Given the description of an element on the screen output the (x, y) to click on. 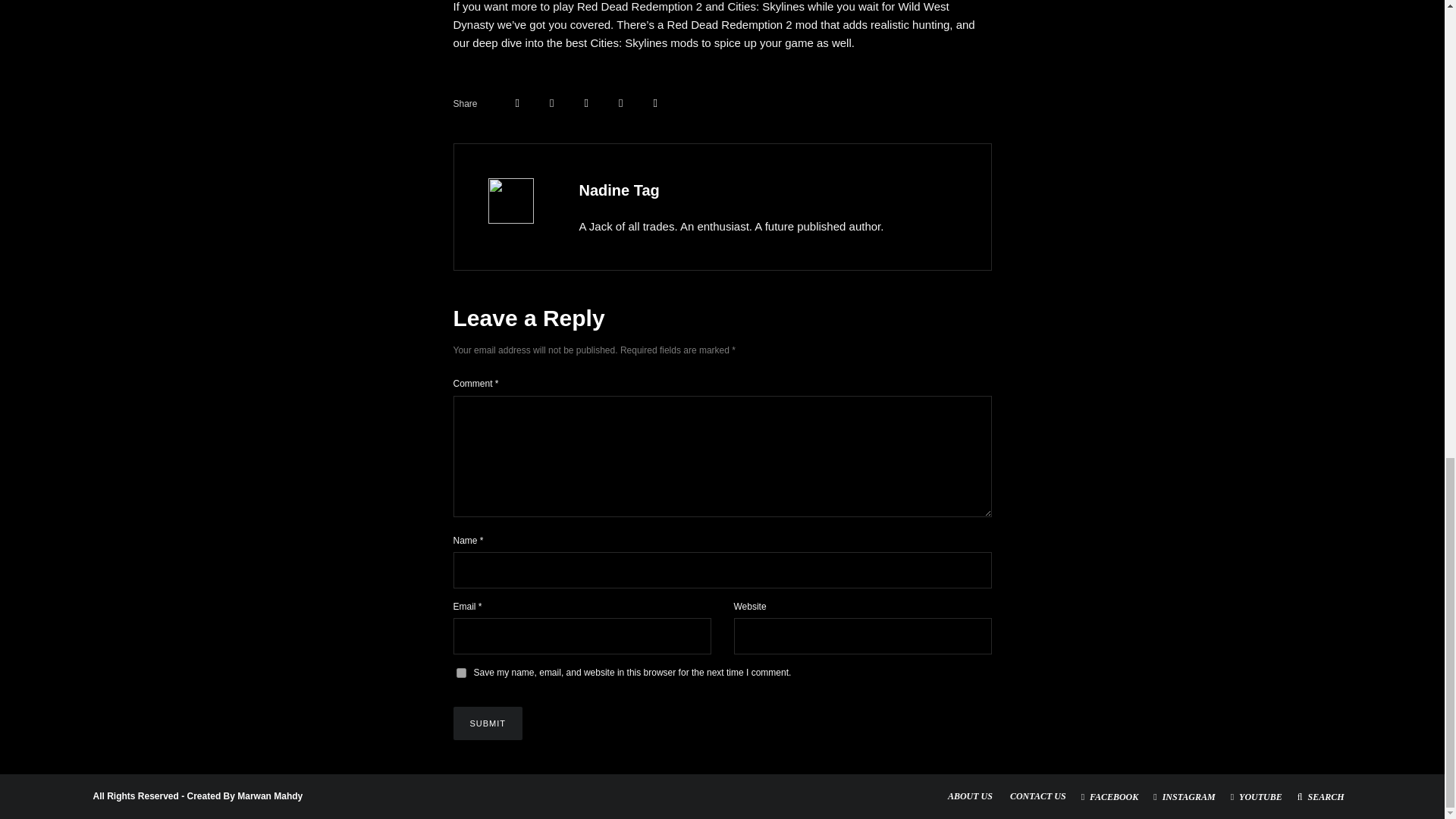
INSTAGRAM (1184, 796)
YOUTUBE (1256, 796)
ABOUT US (969, 796)
Nadine Tag (619, 190)
Submit (487, 723)
FACEBOOK (1110, 796)
SEARCH (1321, 796)
CONTACT US (1037, 796)
Submit (487, 723)
yes (461, 673)
